Given the description of an element on the screen output the (x, y) to click on. 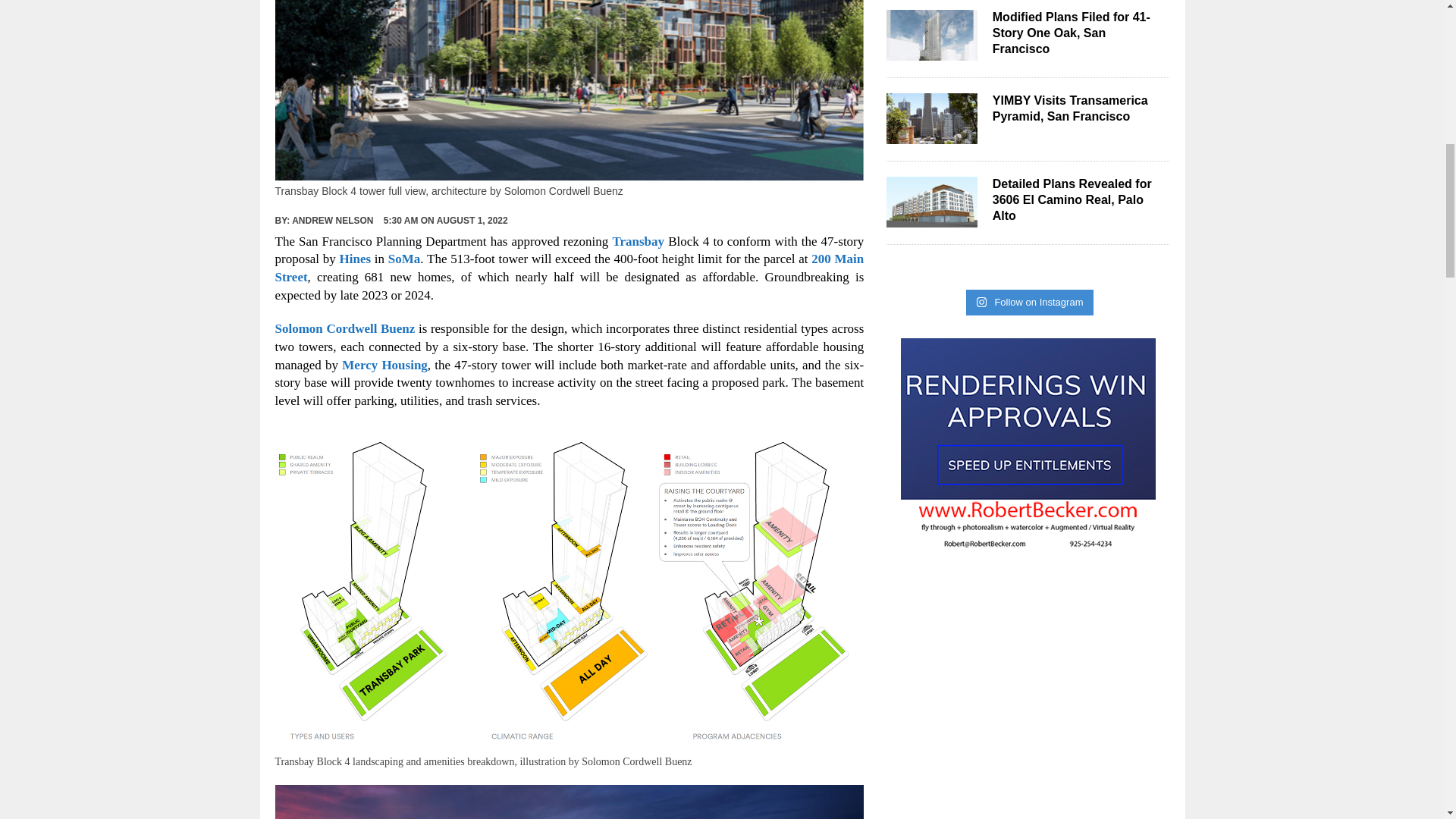
Modified Plans Filed for 41-Story One Oak, San Francisco (1071, 32)
YIMBY Visits Transamerica Pyramid, San Francisco (931, 133)
SoMa (404, 258)
Detailed Plans Revealed for 3606 El Camino Real, Palo Alto (1071, 199)
Detailed Plans Revealed for 3606 El Camino Real, Palo Alto (931, 217)
Modified Plans Filed for 41-Story One Oak, San Francisco (931, 51)
200 Main Street (569, 267)
ANDREW NELSON (332, 220)
YIMBY Visits Transamerica Pyramid, San Francisco (1070, 108)
Transbay (637, 241)
Hines (355, 258)
